Given the description of an element on the screen output the (x, y) to click on. 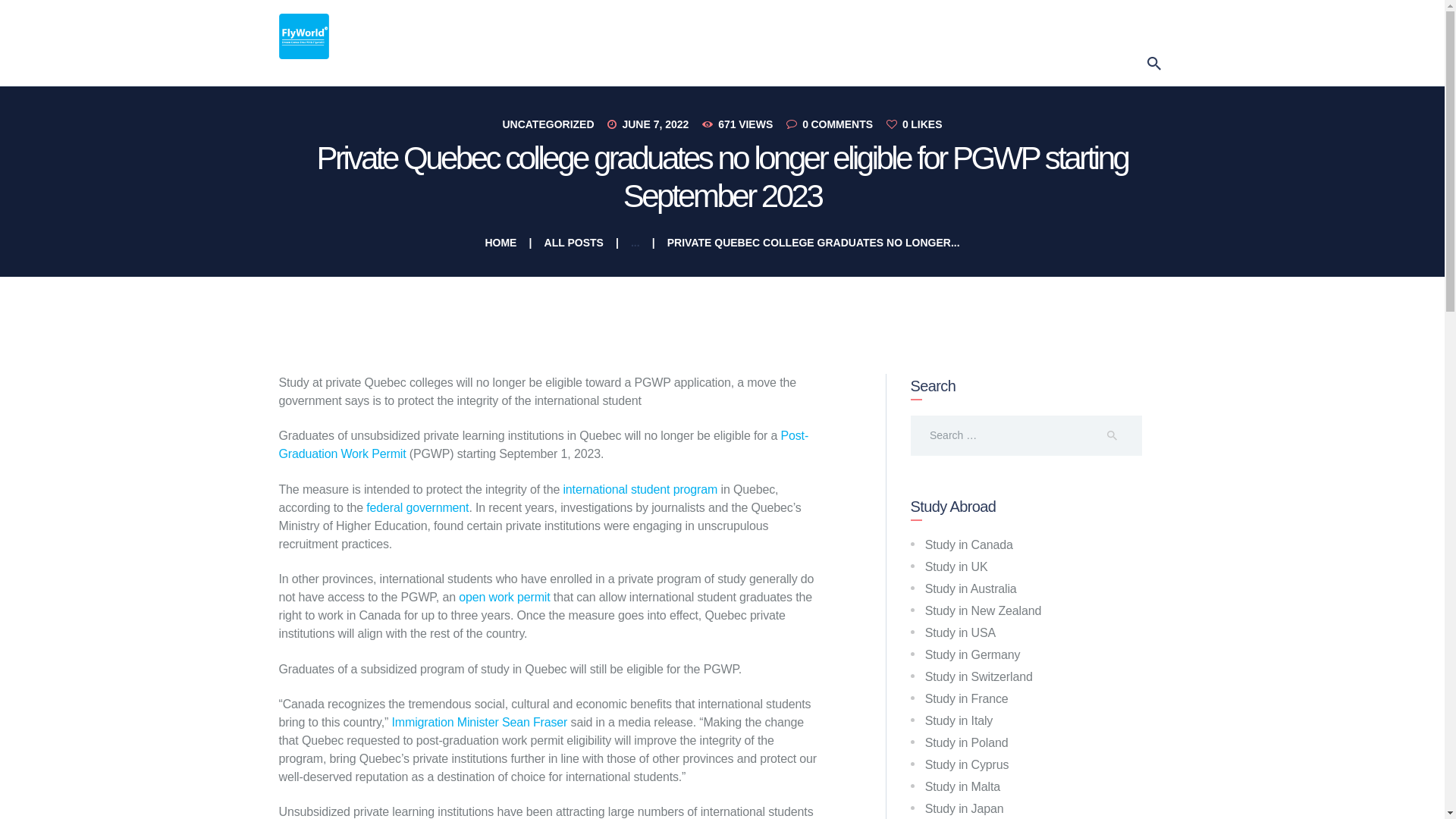
671VIEWS (742, 123)
0LIKES (914, 123)
ALL POSTS (574, 242)
0COMMENTS (834, 123)
Like (914, 123)
UNCATEGORIZED (548, 123)
JUNE 7, 2022 (654, 123)
HOME (500, 242)
Search (1120, 435)
Post-Graduation Work Permit (544, 444)
